Given the description of an element on the screen output the (x, y) to click on. 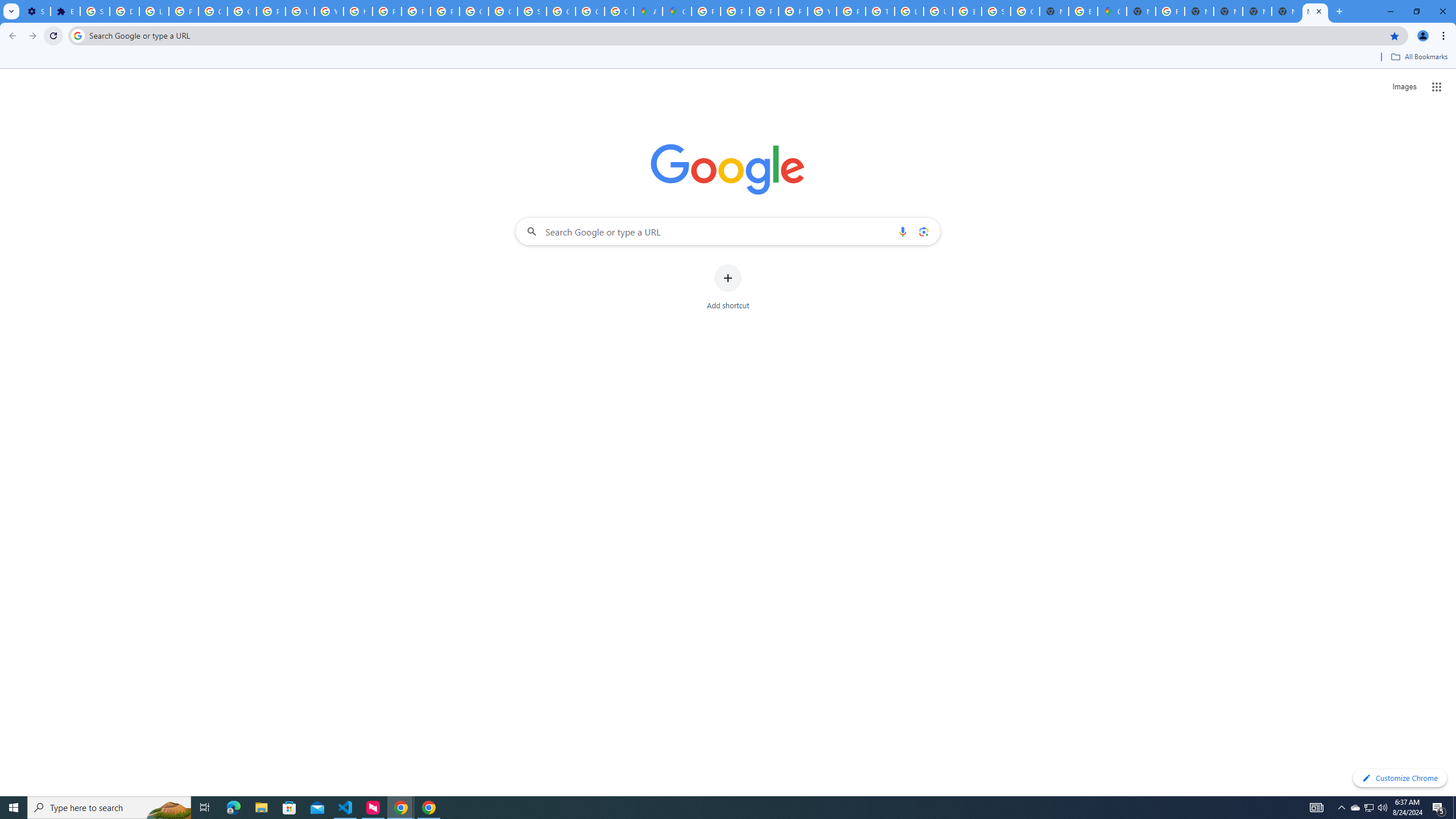
Search icon (77, 35)
Bookmarks (728, 58)
Sign in - Google Accounts (531, 11)
